Given the description of an element on the screen output the (x, y) to click on. 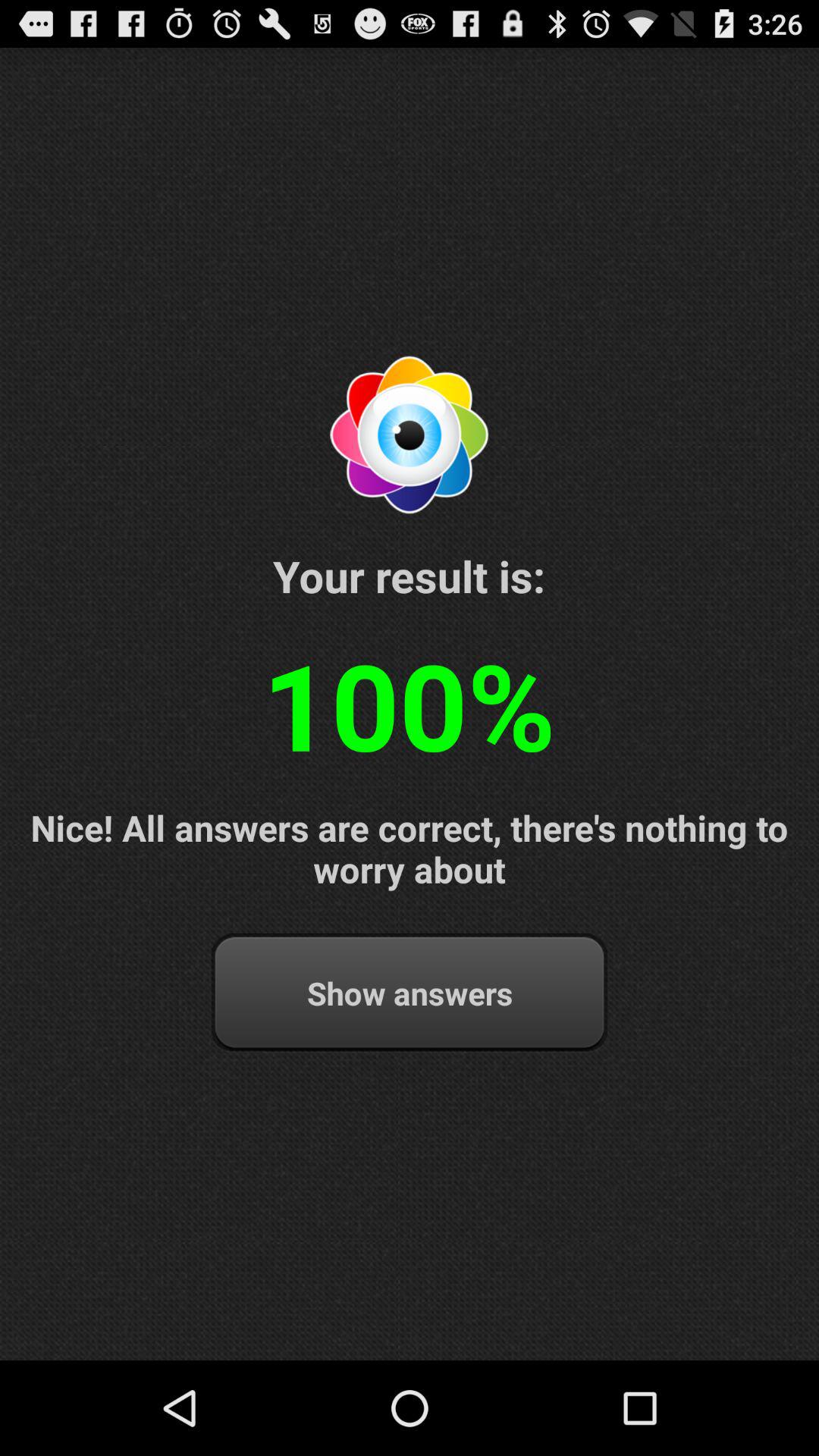
scroll to show answers (409, 992)
